Given the description of an element on the screen output the (x, y) to click on. 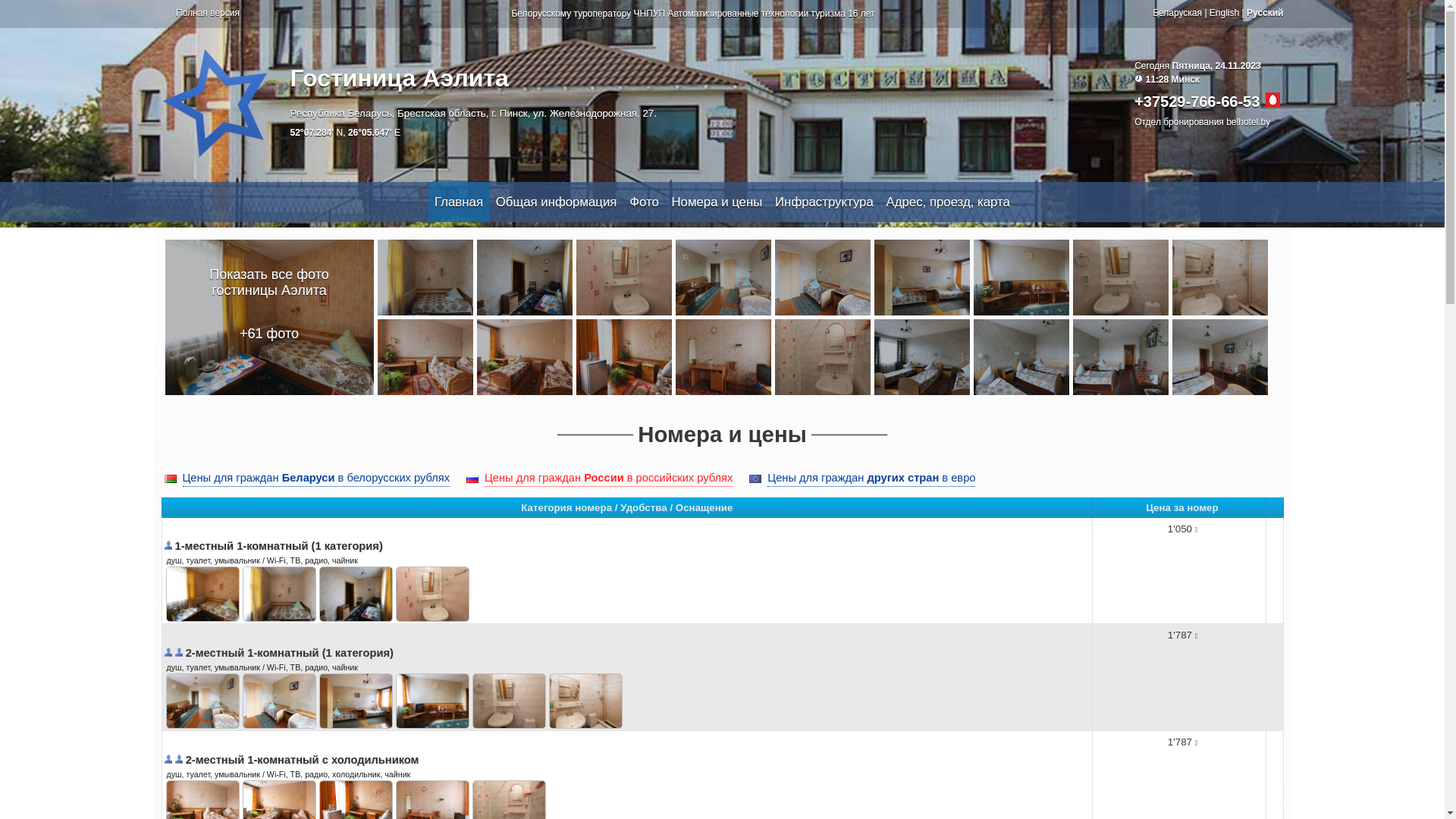
+37529-766-66-53 Element type: text (1196, 101)
English Element type: text (1224, 12)
